Given the description of an element on the screen output the (x, y) to click on. 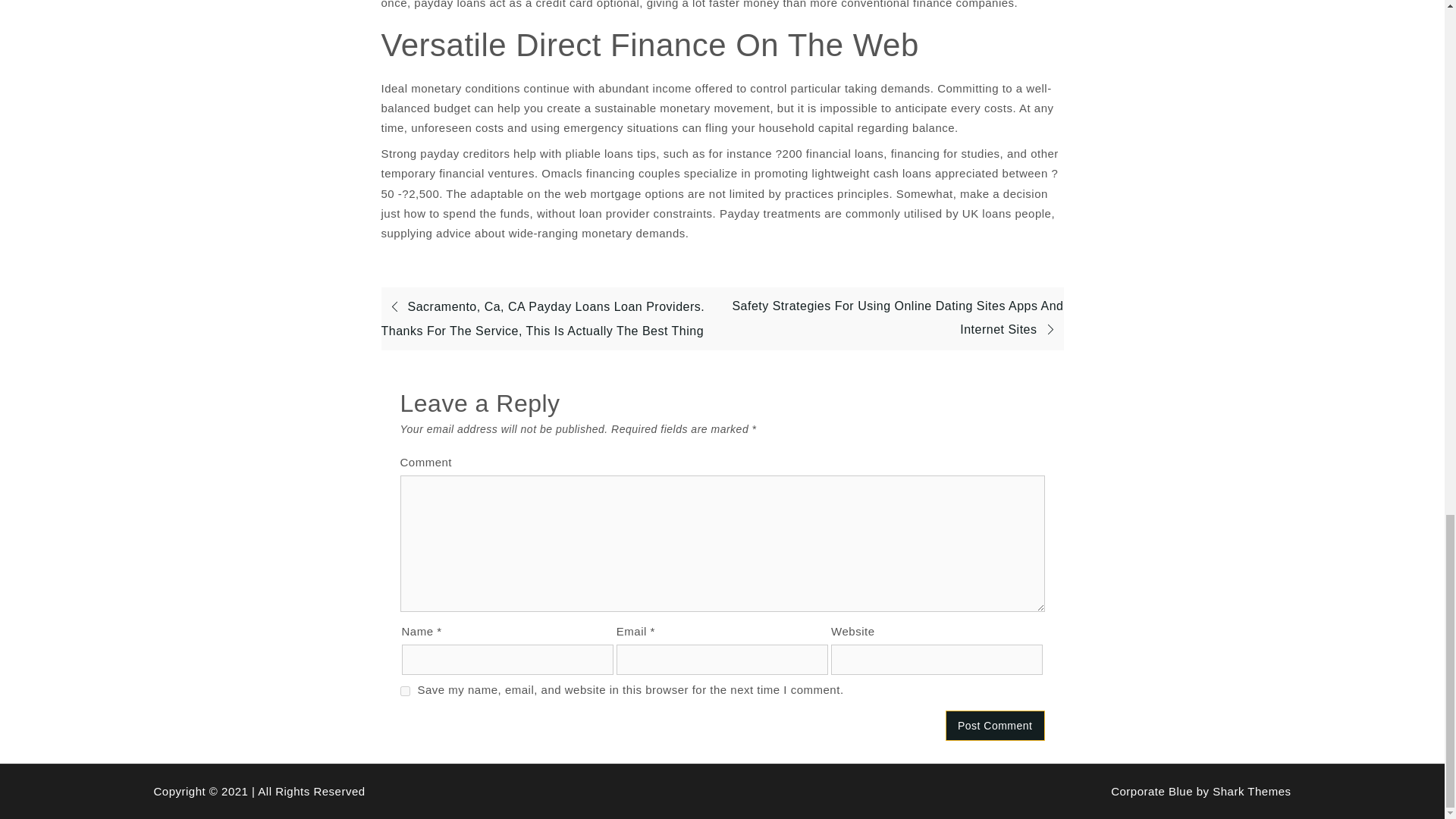
Post Comment (994, 725)
Post Comment (994, 725)
Shark Themes (1251, 790)
